Given the description of an element on the screen output the (x, y) to click on. 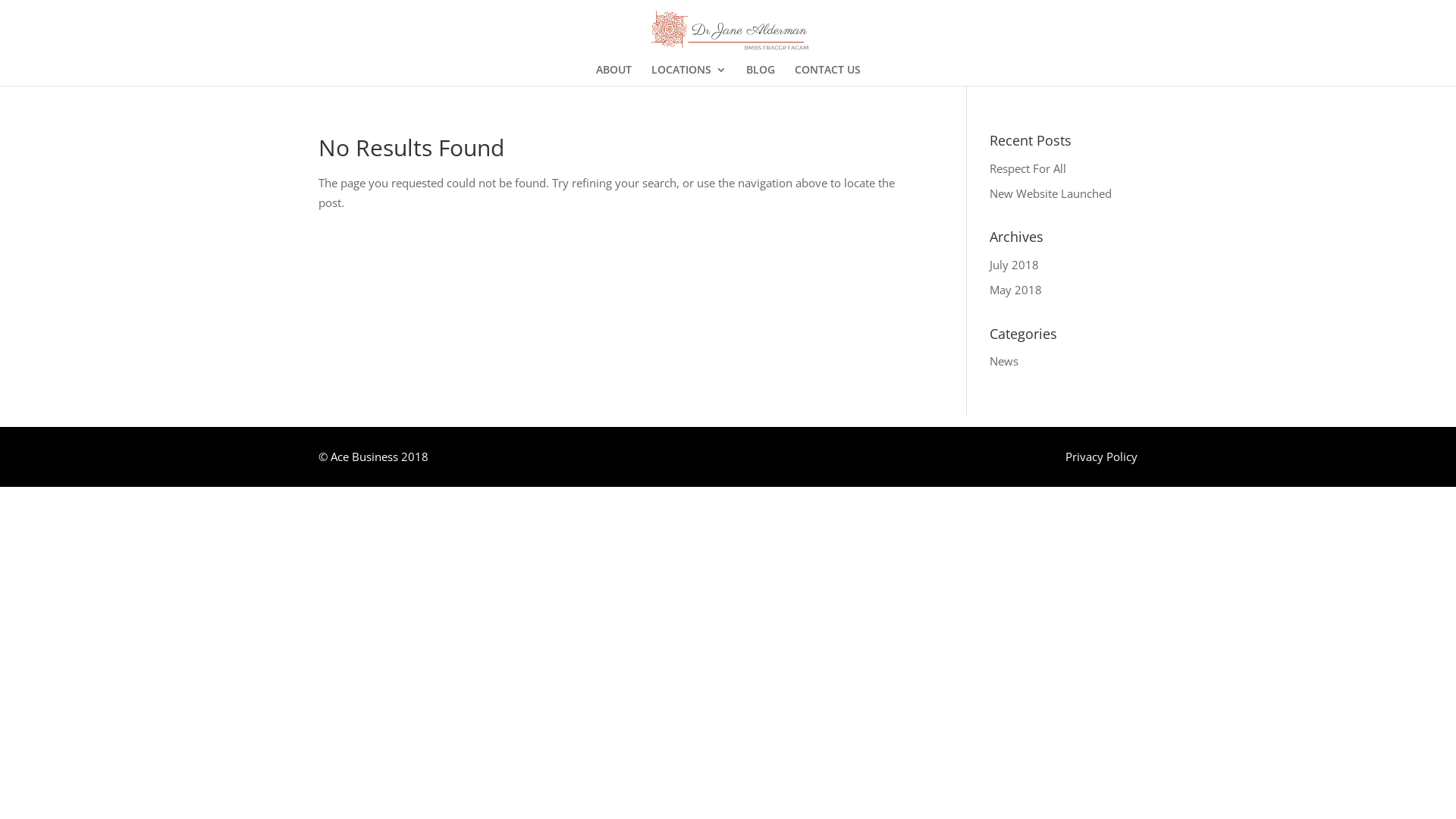
News Element type: text (1003, 360)
Privacy Policy Element type: text (1101, 456)
CONTACT US Element type: text (827, 74)
New Website Launched Element type: text (1050, 192)
May 2018 Element type: text (1015, 289)
BLOG Element type: text (760, 74)
Respect For All Element type: text (1027, 167)
Ace Business Element type: text (364, 456)
July 2018 Element type: text (1013, 264)
LOCATIONS Element type: text (687, 74)
ABOUT Element type: text (613, 74)
